Given the description of an element on the screen output the (x, y) to click on. 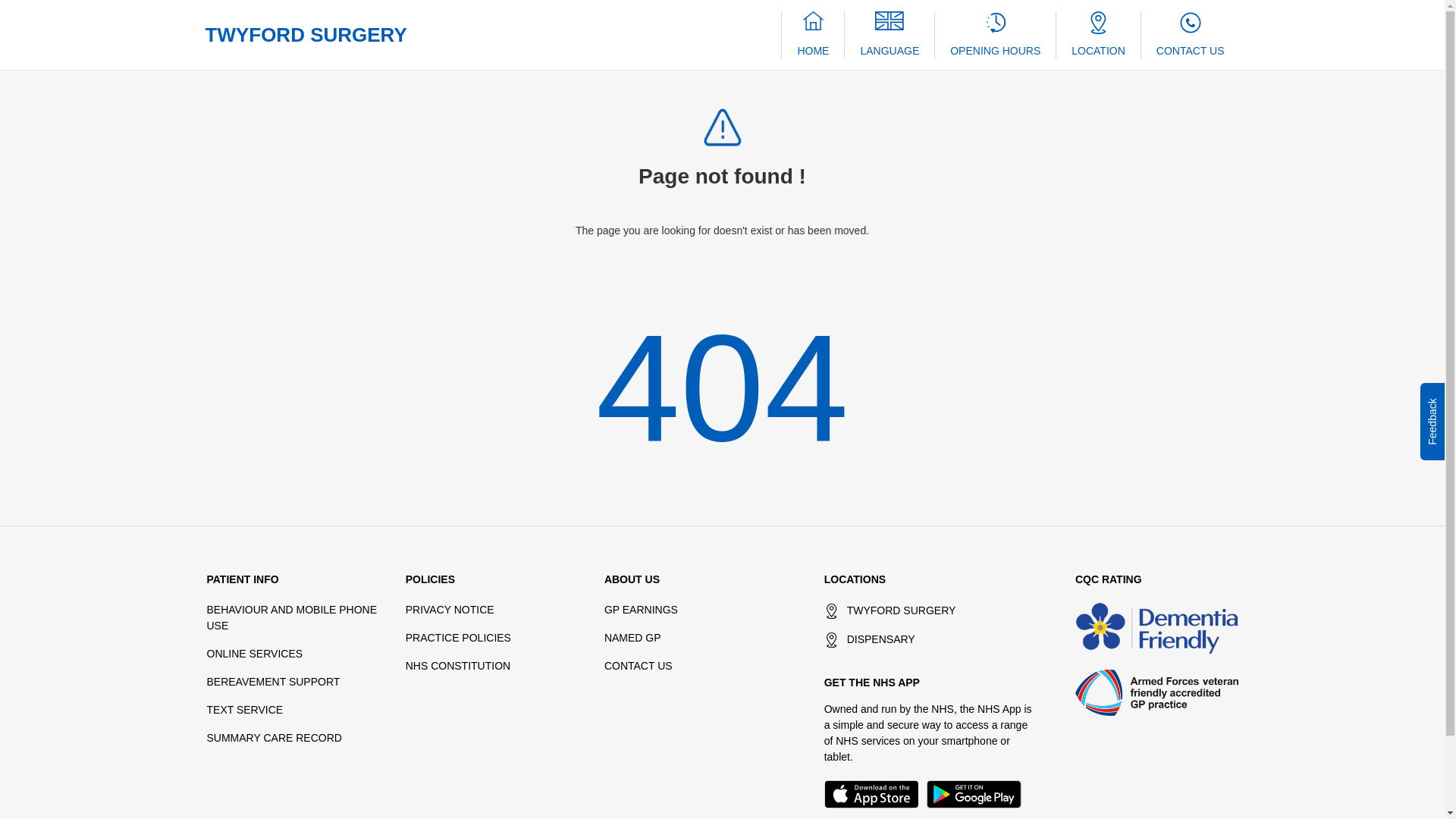
LOCATION (1097, 34)
OPENING HOURS (994, 34)
PRACTICE POLICIES (458, 637)
TEXT SERVICE (244, 709)
NAMED GP (632, 637)
TWYFORD SURGERY (931, 610)
BEREAVEMENT SUPPORT (272, 681)
TWYFORD SURGERY (305, 34)
BEHAVIOUR AND MOBILE PHONE USE (291, 617)
GP EARNINGS (641, 609)
